Given the description of an element on the screen output the (x, y) to click on. 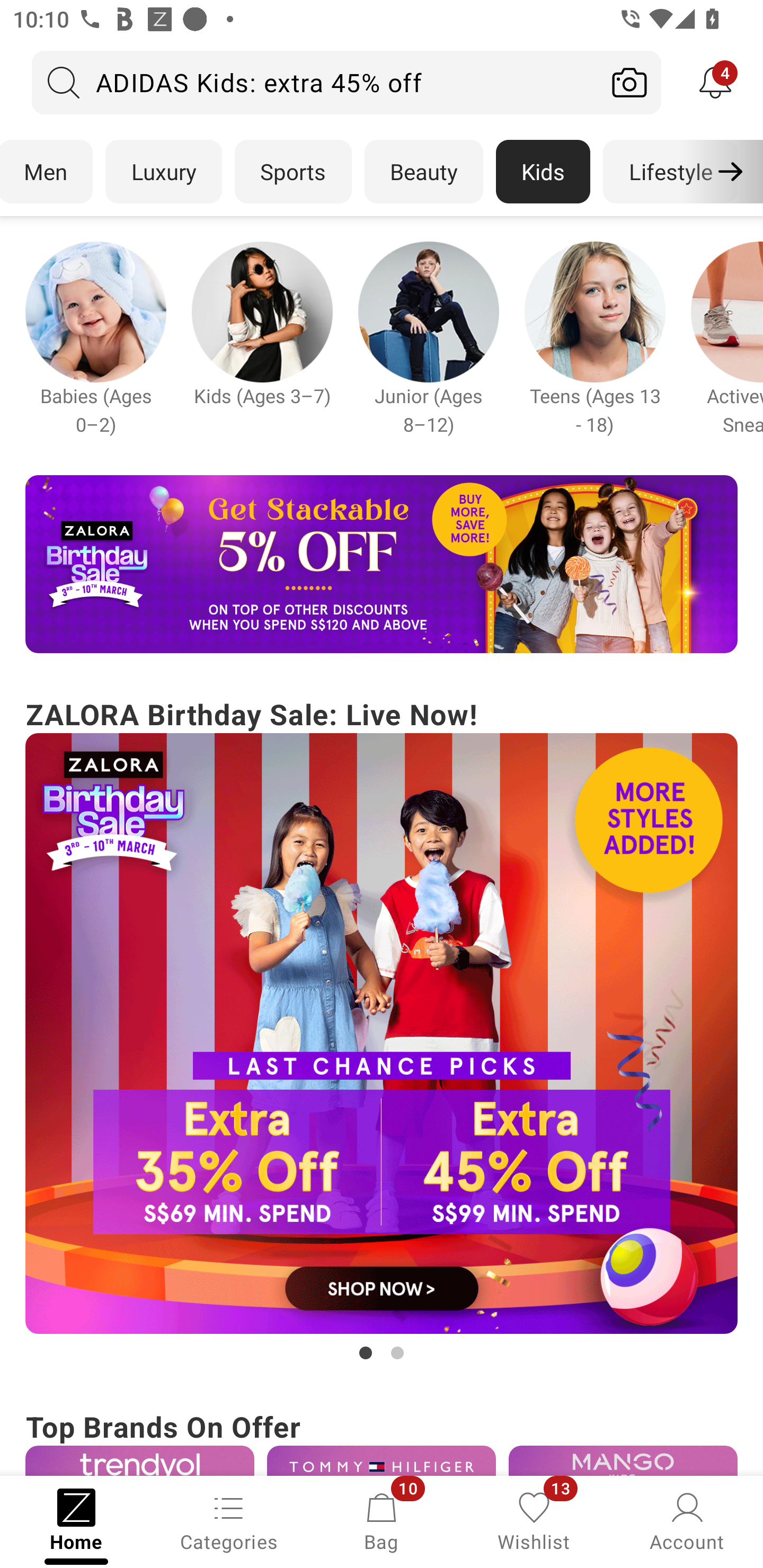
ADIDAS Kids: extra 45% off (314, 82)
Men (46, 171)
Luxury (163, 171)
Sports (293, 171)
Beauty (423, 171)
Kids (542, 171)
Lifestyle (669, 171)
Campaign banner (95, 311)
Campaign banner (261, 311)
Campaign banner (428, 311)
Campaign banner (594, 311)
Campaign banner (381, 564)
ZALORA Birthday Sale: Live Now! Campaign banner (381, 1028)
Campaign banner (381, 1033)
Campaign banner (139, 1460)
Campaign banner (381, 1460)
Campaign banner (622, 1460)
Categories (228, 1519)
Bag, 10 new notifications Bag (381, 1519)
Wishlist, 13 new notifications Wishlist (533, 1519)
Account (686, 1519)
